Given the description of an element on the screen output the (x, y) to click on. 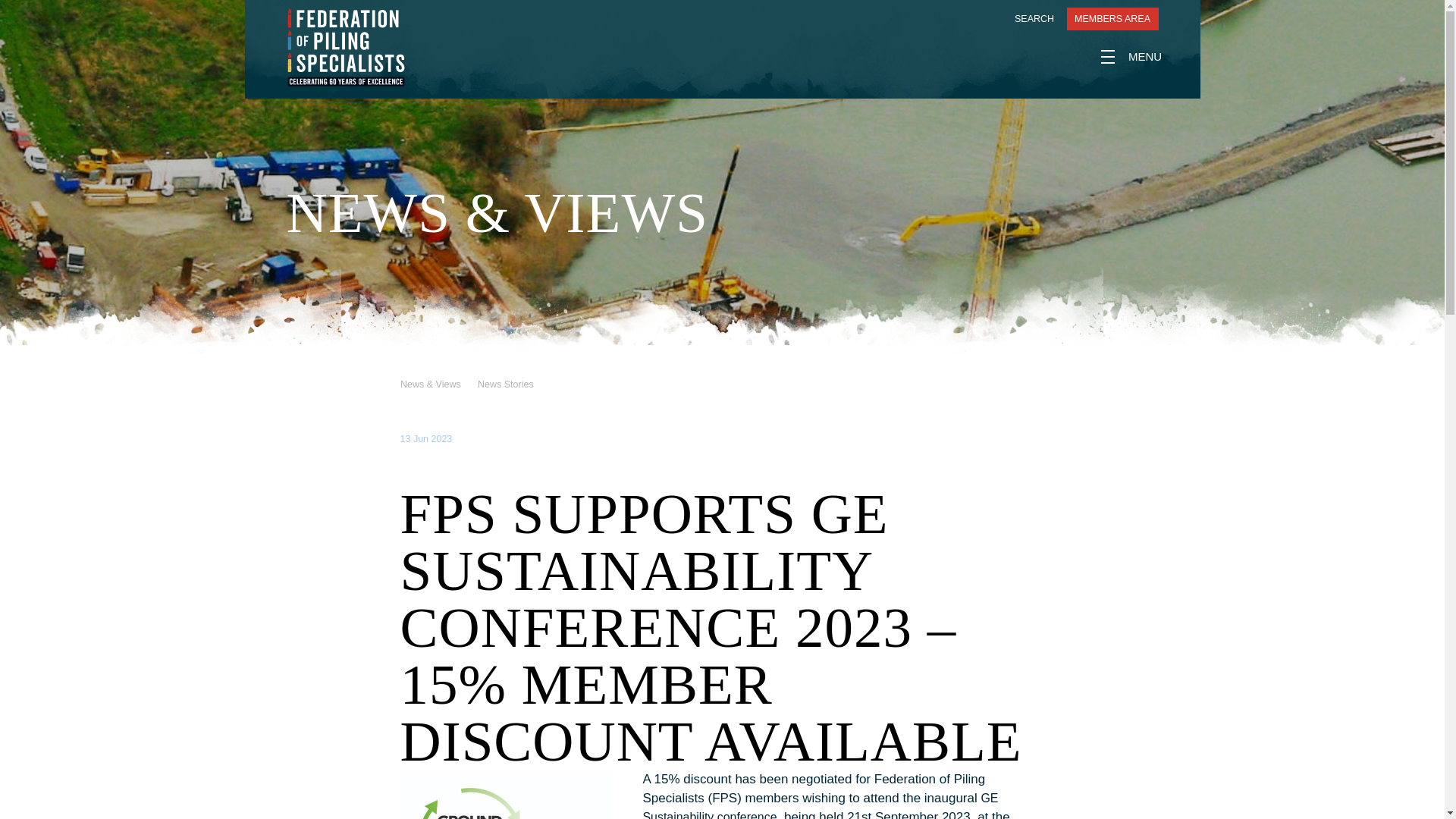
SEARCH (1024, 18)
MEMBERS AREA (1112, 18)
FPS - Celebrating 60 years of excellence (346, 46)
